Given the description of an element on the screen output the (x, y) to click on. 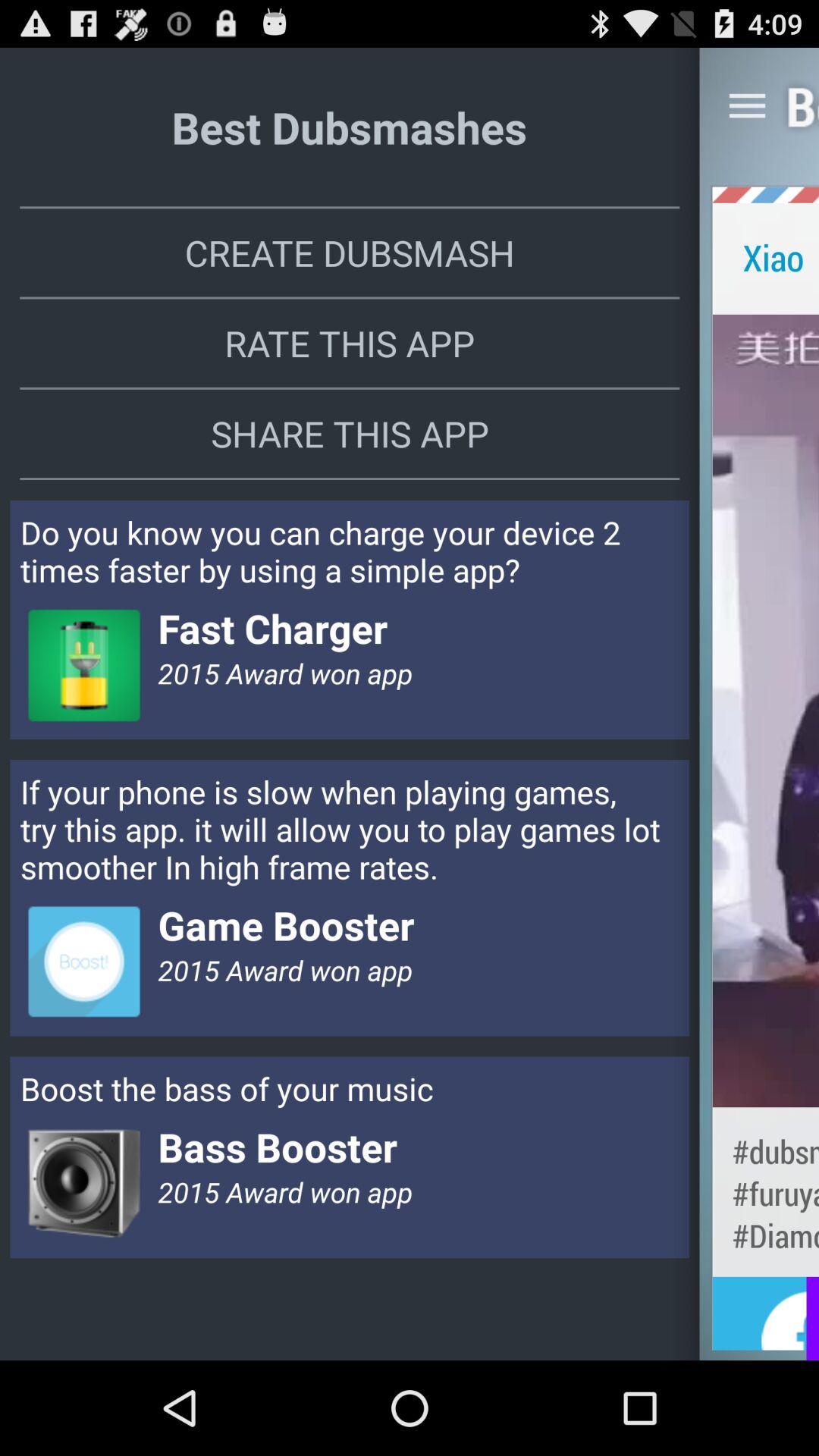
select icon to the right of rate this app app (765, 710)
